Given the description of an element on the screen output the (x, y) to click on. 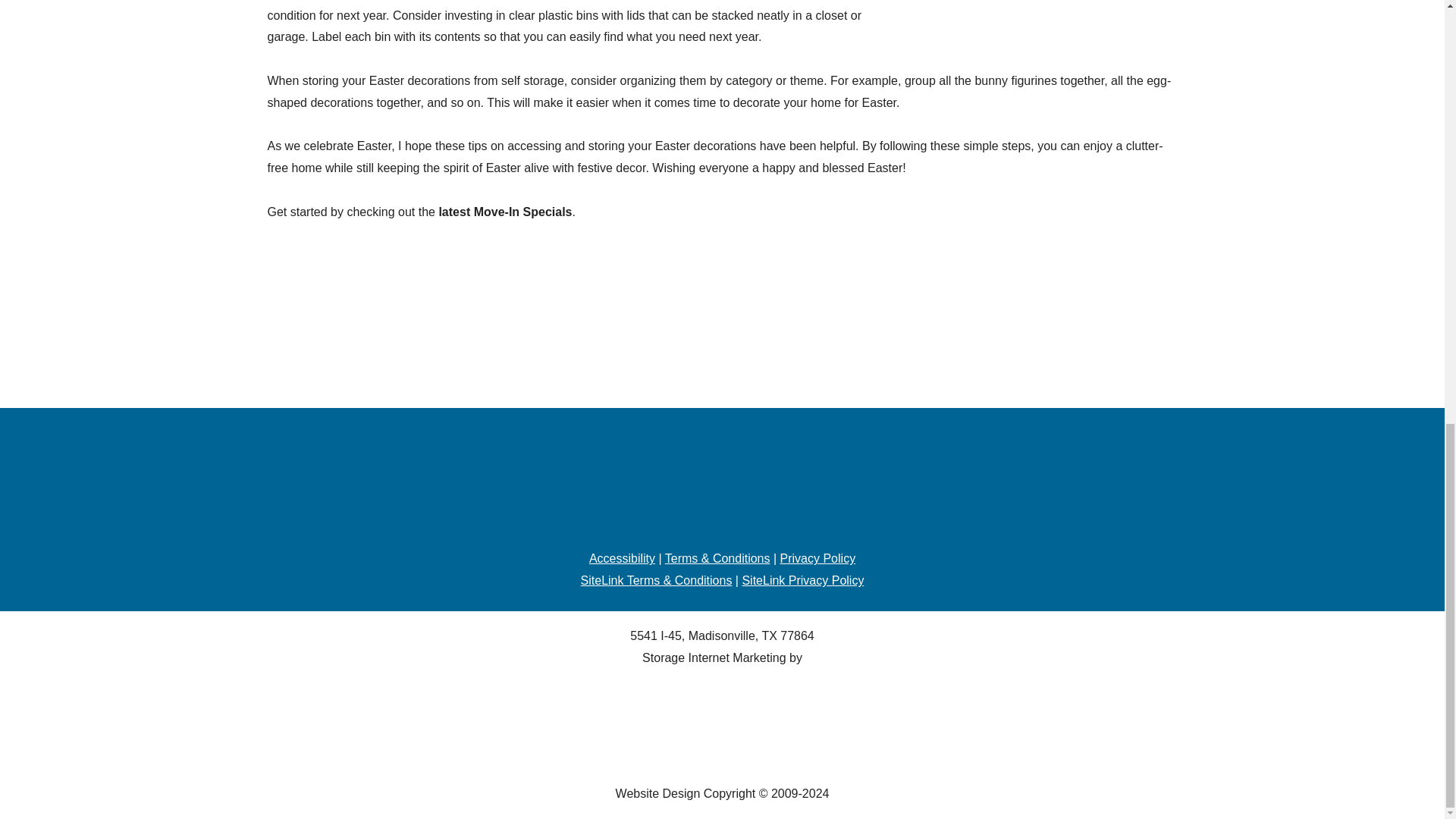
Privacy Policy (818, 558)
latest Move-In Specials (505, 211)
Accessibility (622, 558)
SiteLink Privacy Policy (802, 580)
